Given the description of an element on the screen output the (x, y) to click on. 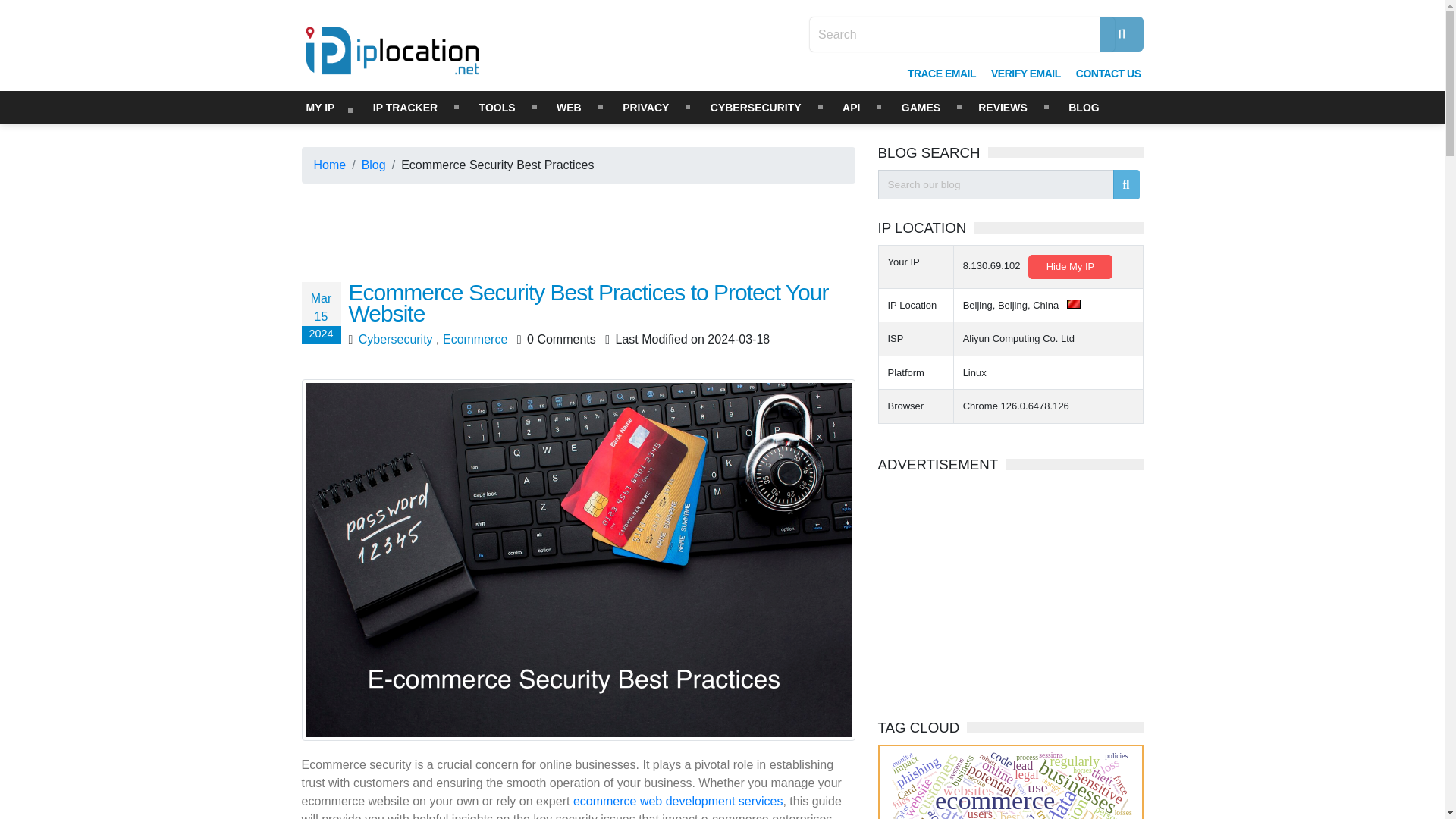
REVIEWS (1002, 107)
IP TRACKER (405, 107)
TRACE EMAIL (941, 72)
Advertisement (1015, 587)
CYBERSECURITY (756, 107)
API (851, 107)
VERIFY EMAIL (1025, 72)
TOOLS (497, 107)
WEB (568, 107)
CONTACT US (1108, 72)
GAMES (920, 107)
MY IP (319, 107)
PRIVACY (645, 107)
